Given the description of an element on the screen output the (x, y) to click on. 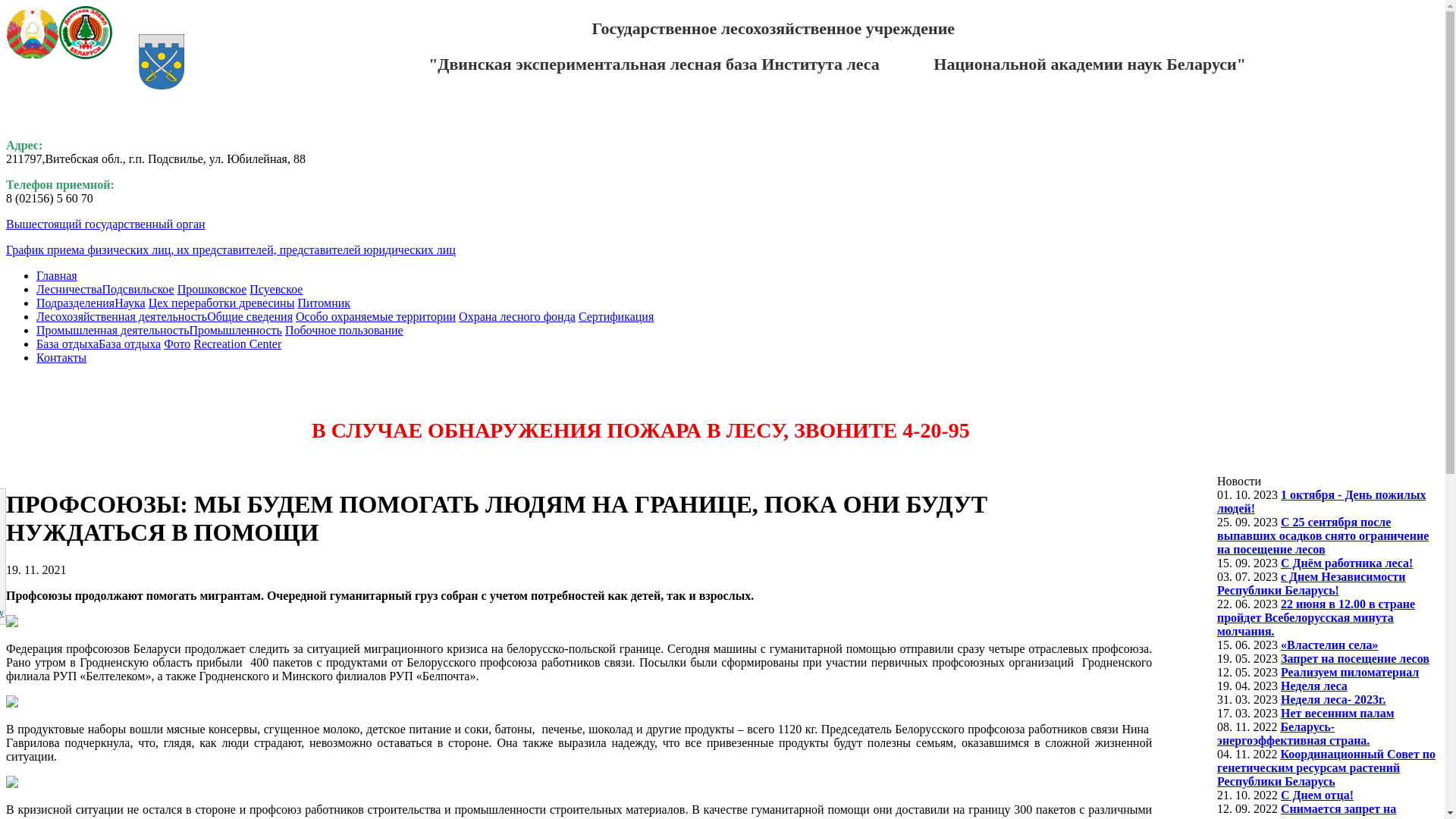
Recreation Center Element type: text (237, 343)
